Given the description of an element on the screen output the (x, y) to click on. 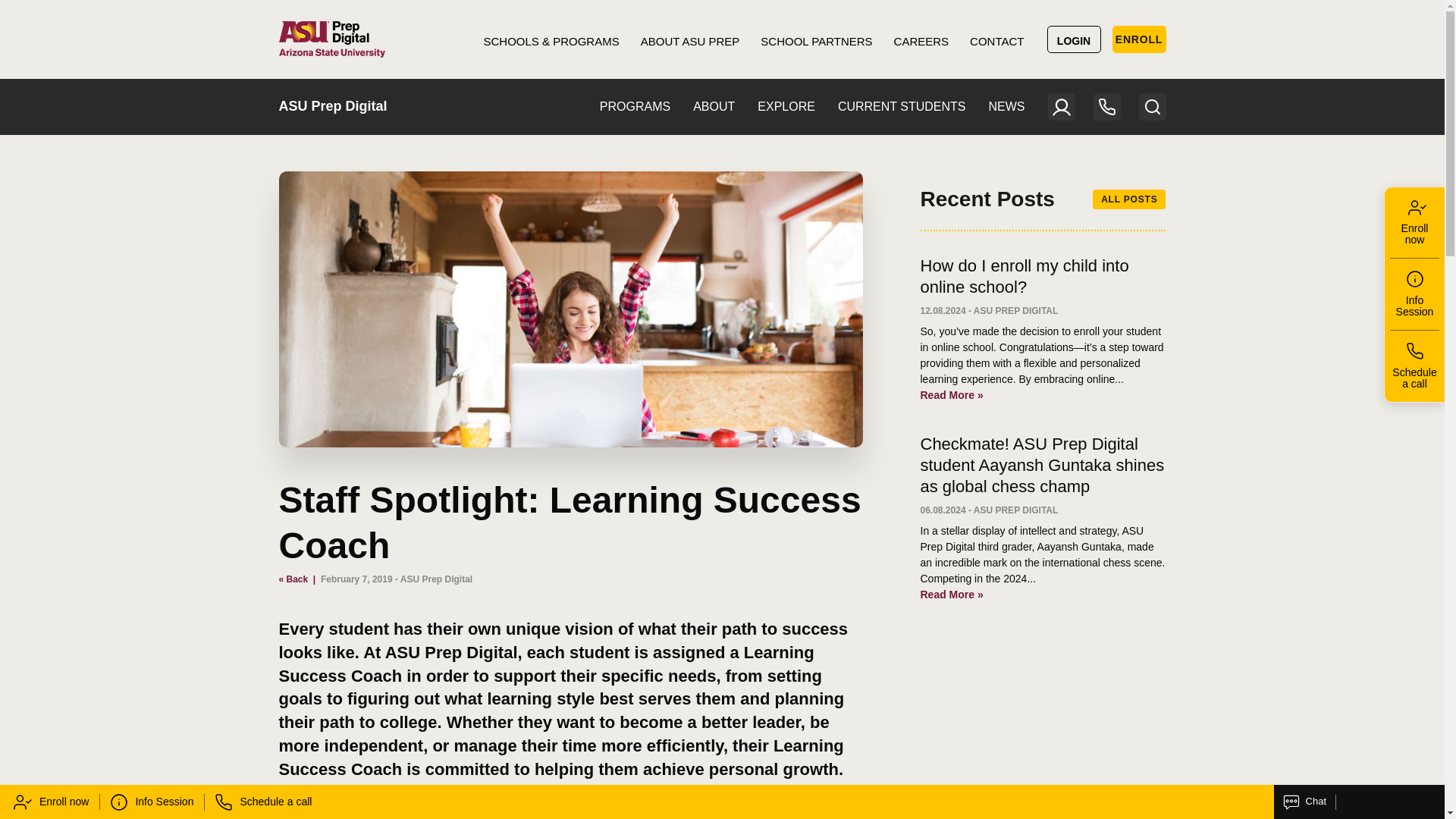
Contact (1107, 106)
SCHOOL PARTNERS (816, 39)
Enroll now (1414, 222)
HOME (332, 39)
Search (1152, 106)
LOGIN (1073, 39)
Schedule a call (263, 801)
Schedule a call (1414, 366)
Enroll now (48, 801)
ENROLL (1139, 39)
